Given the description of an element on the screen output the (x, y) to click on. 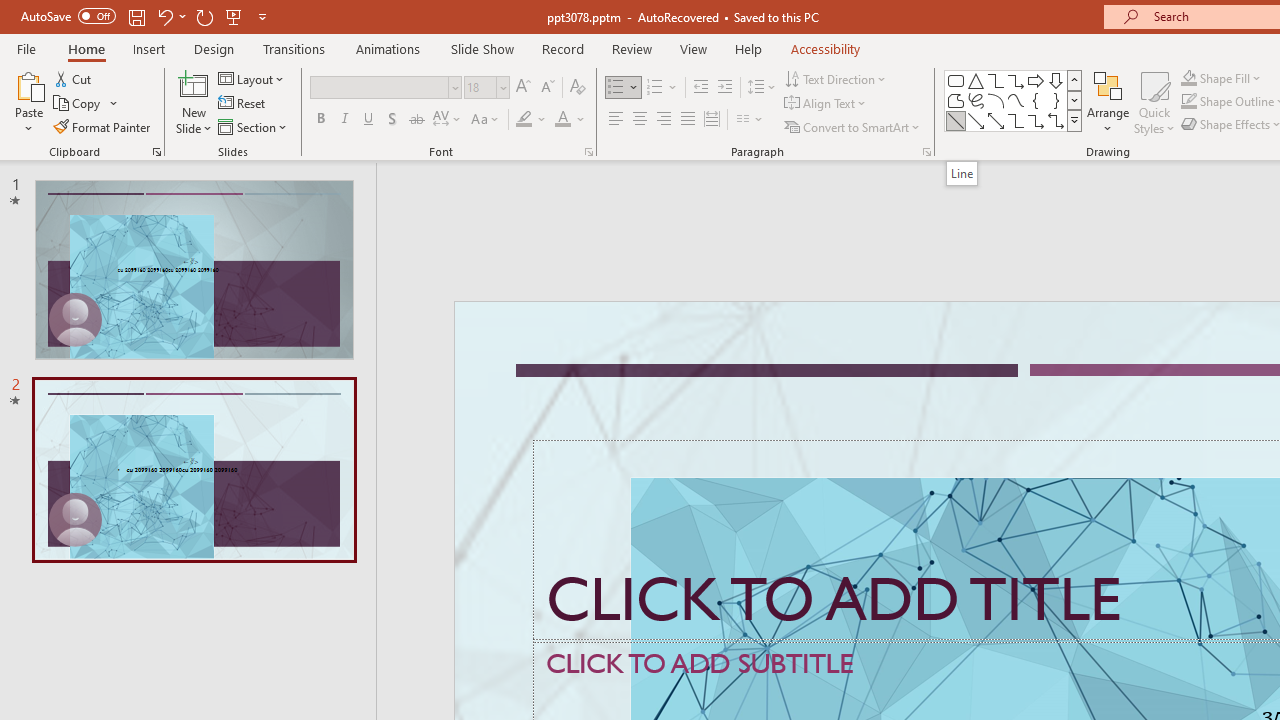
Line Arrow (975, 120)
Paste (28, 84)
Curve (1016, 100)
Reset (243, 103)
Increase Indent (725, 87)
Arrange (1108, 102)
Format Painter (103, 126)
Font Size (486, 87)
Quick Styles (1154, 102)
Distributed (712, 119)
Align Right (663, 119)
Row Down (1074, 100)
Font... (588, 151)
From Beginning (234, 15)
Shape Fill Dark Green, Accent 2 (1188, 78)
